Given the description of an element on the screen output the (x, y) to click on. 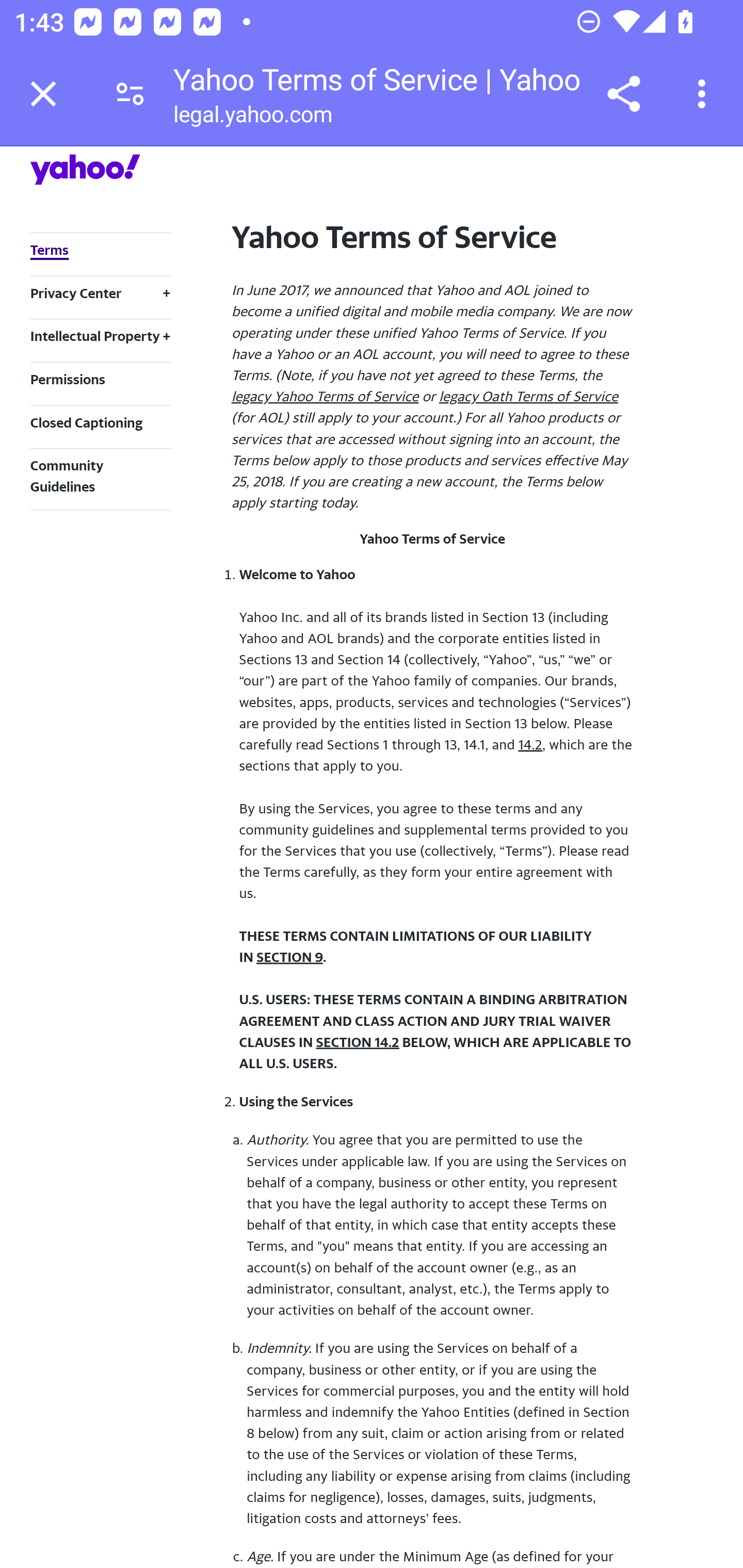
Close tab (43, 93)
Share (623, 93)
Customize and control Google Chrome (705, 93)
Connection is secure (129, 93)
legal.yahoo.com (252, 117)
Yahoo logo (84, 169)
Terms (48, 250)
+ Privacy Center + Privacy Center (100, 293)
+ Intellectual Property + Intellectual Property (100, 335)
Permissions (67, 378)
legacy Yahoo Terms of Service (324, 395)
legacy Oath Terms of Service (528, 395)
Closed Captioning (85, 421)
Community Guidelines (66, 474)
14.2 (530, 743)
SECTION 9 (289, 956)
SECTION 14.2 (356, 1041)
